Given the description of an element on the screen output the (x, y) to click on. 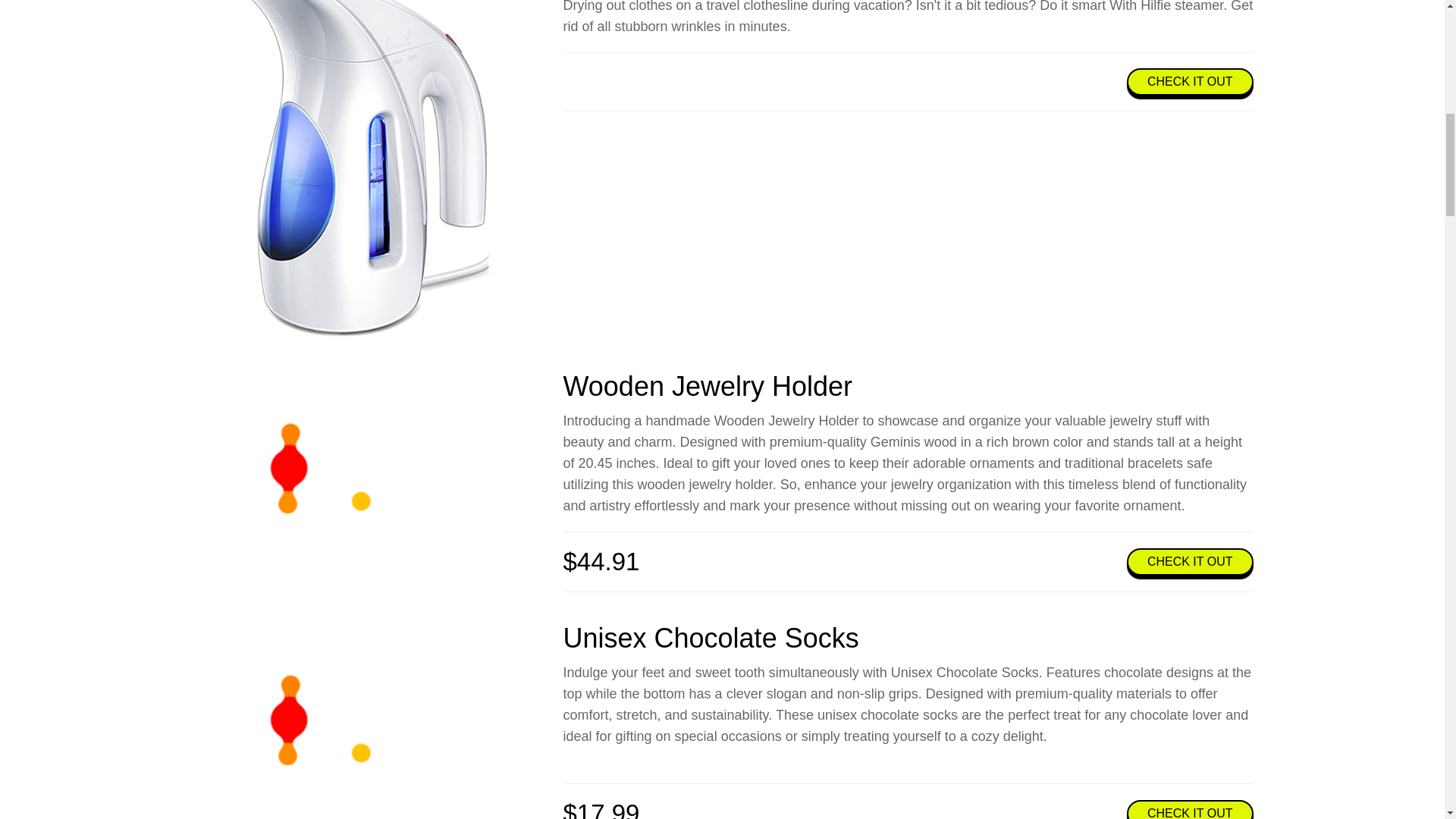
Hilife Steamer for Clothes (349, 168)
Wooden Jewelry Holder (287, 468)
Unisex Chocolate Socks (710, 637)
Unisex Chocolate Socks (287, 719)
Wooden Jewelry Holder (706, 386)
